Given the description of an element on the screen output the (x, y) to click on. 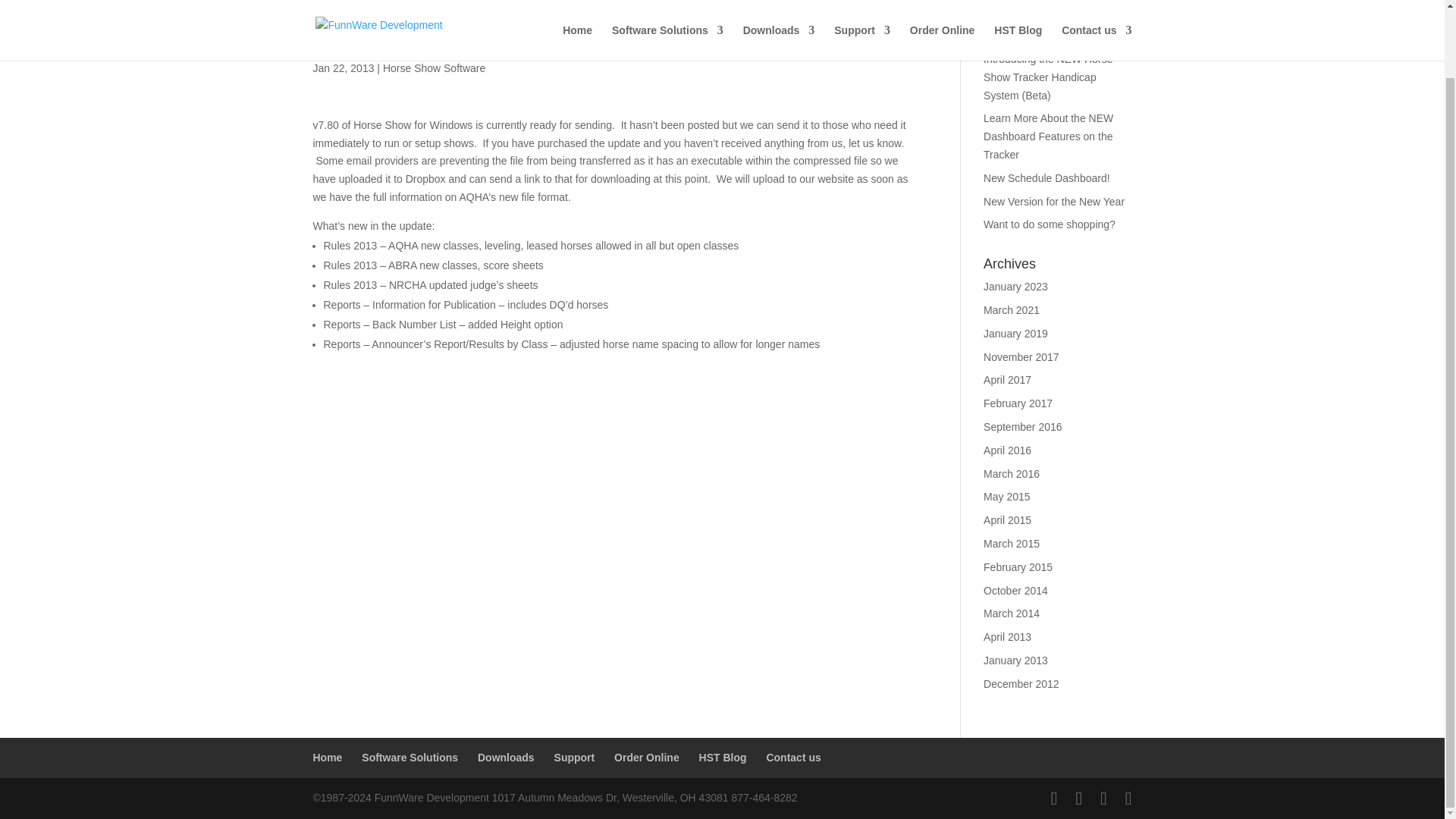
September 2016 (1023, 426)
November 2017 (1021, 357)
May 2015 (1006, 496)
Learn More About the NEW Dashboard Features on the Tracker (1048, 136)
April 2016 (1007, 450)
January 2019 (1016, 333)
January 2023 (1016, 286)
Want to do some shopping? (1049, 224)
March 2016 (1011, 473)
Horse Show Software (433, 68)
